Given the description of an element on the screen output the (x, y) to click on. 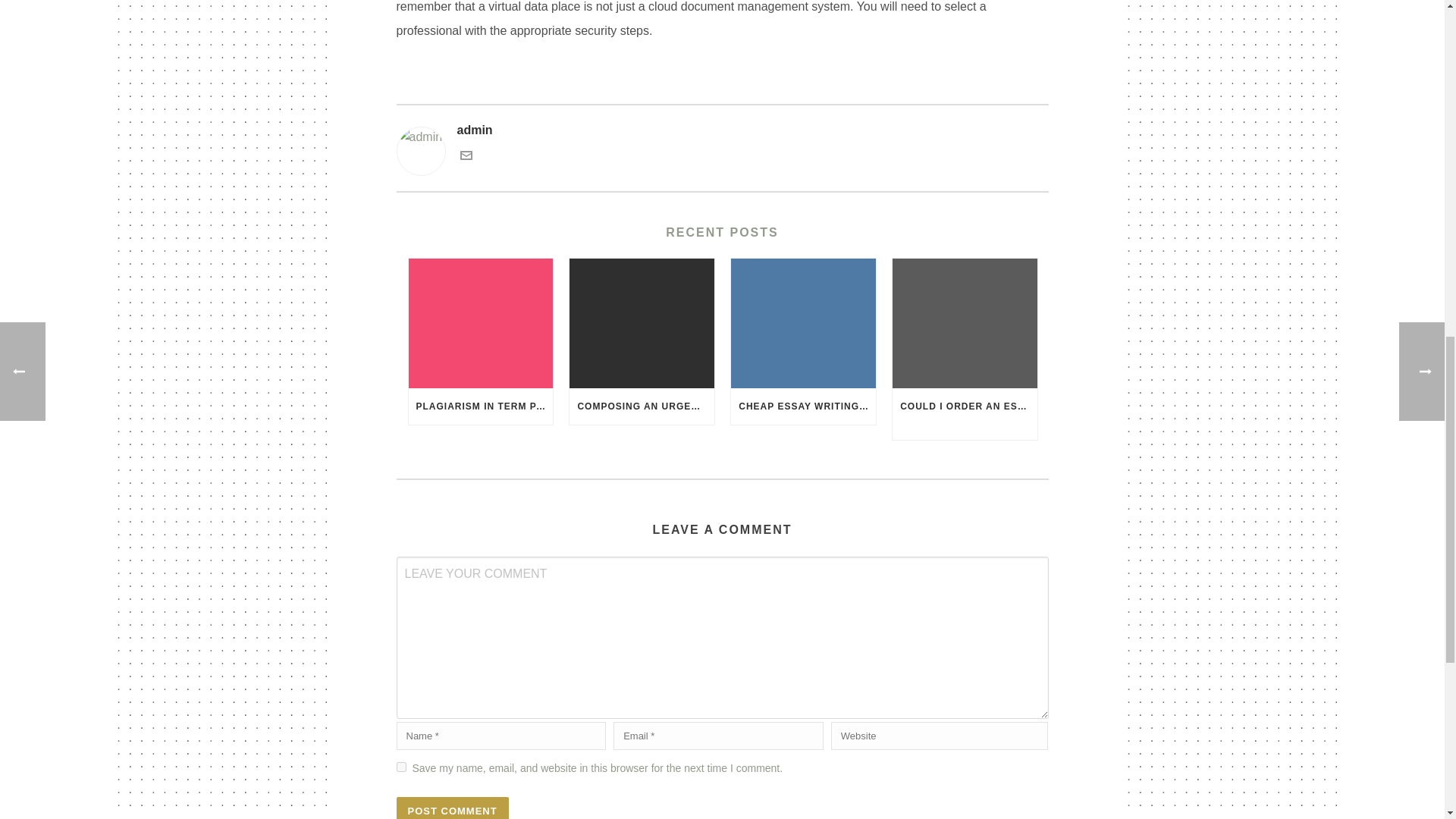
admin (722, 130)
yes (401, 767)
POST COMMENT (452, 807)
Could I Order an Essay Next Day Online?  (964, 323)
Get in touch with me via email (465, 156)
